Given the description of an element on the screen output the (x, y) to click on. 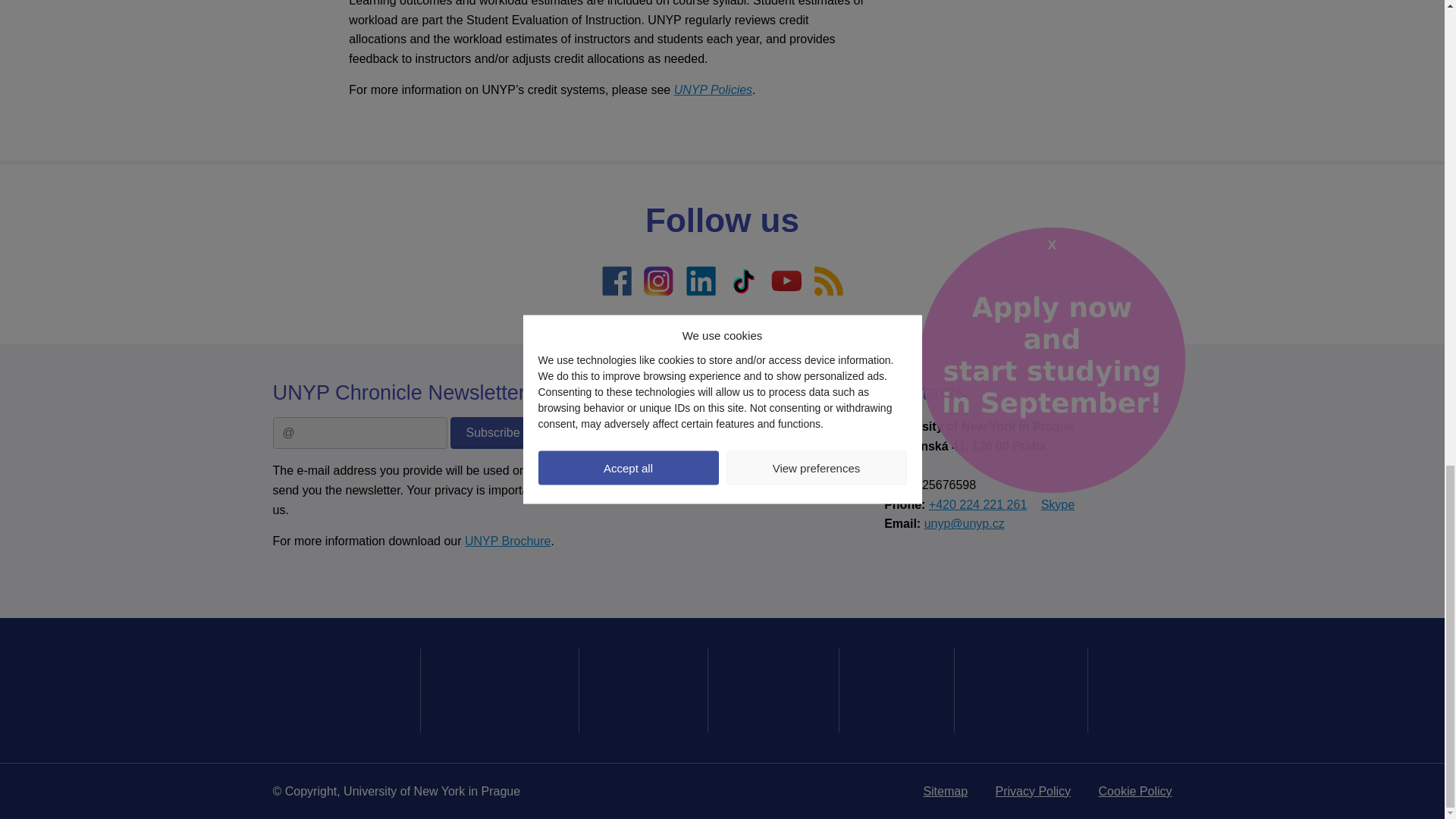
TikTok (743, 280)
Youtube (785, 280)
Facebook (614, 280)
Linkedin (700, 280)
RSS (827, 280)
Instagram (657, 280)
